Given the description of an element on the screen output the (x, y) to click on. 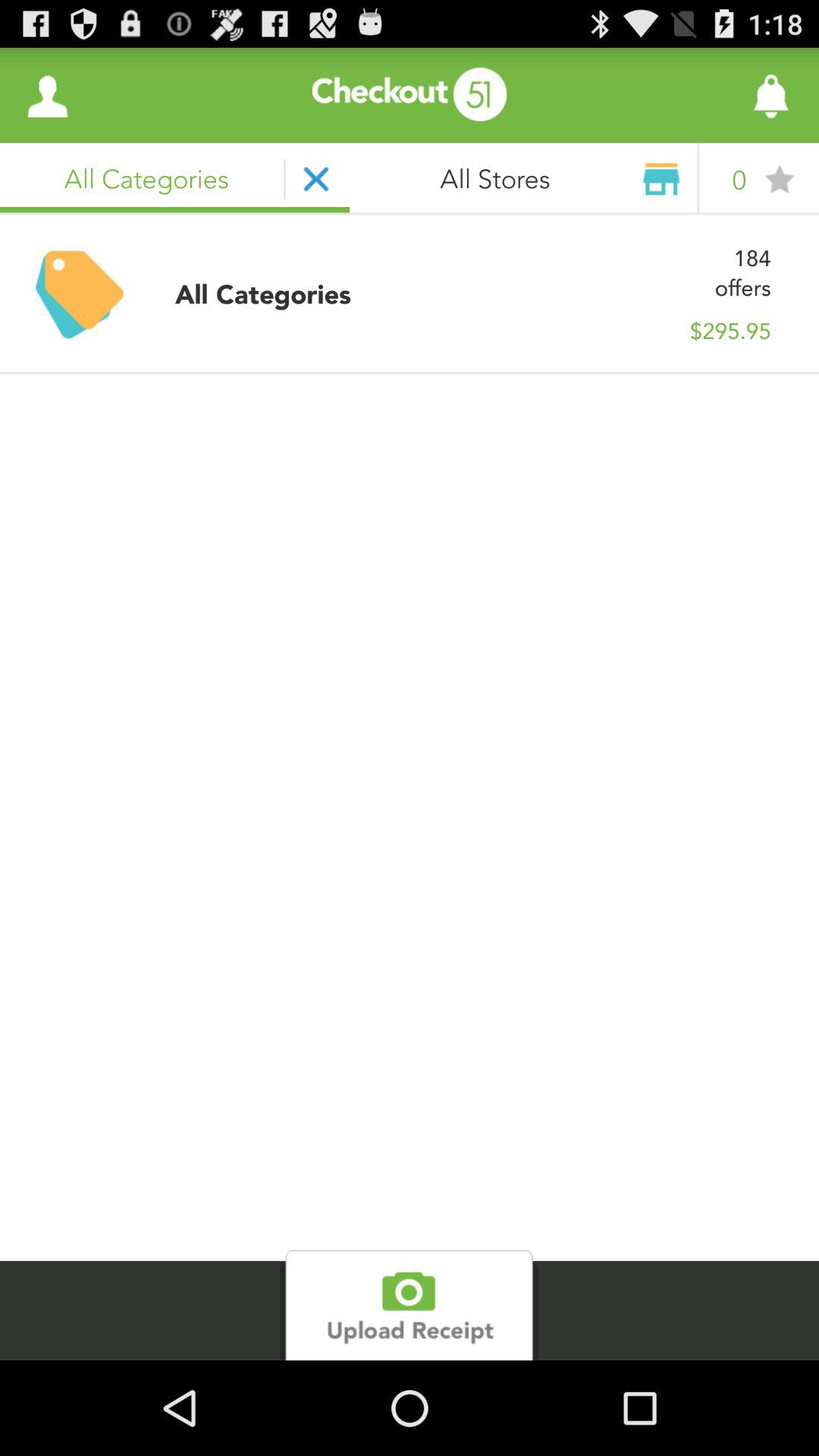
select item above the all categories (47, 95)
